Given the description of an element on the screen output the (x, y) to click on. 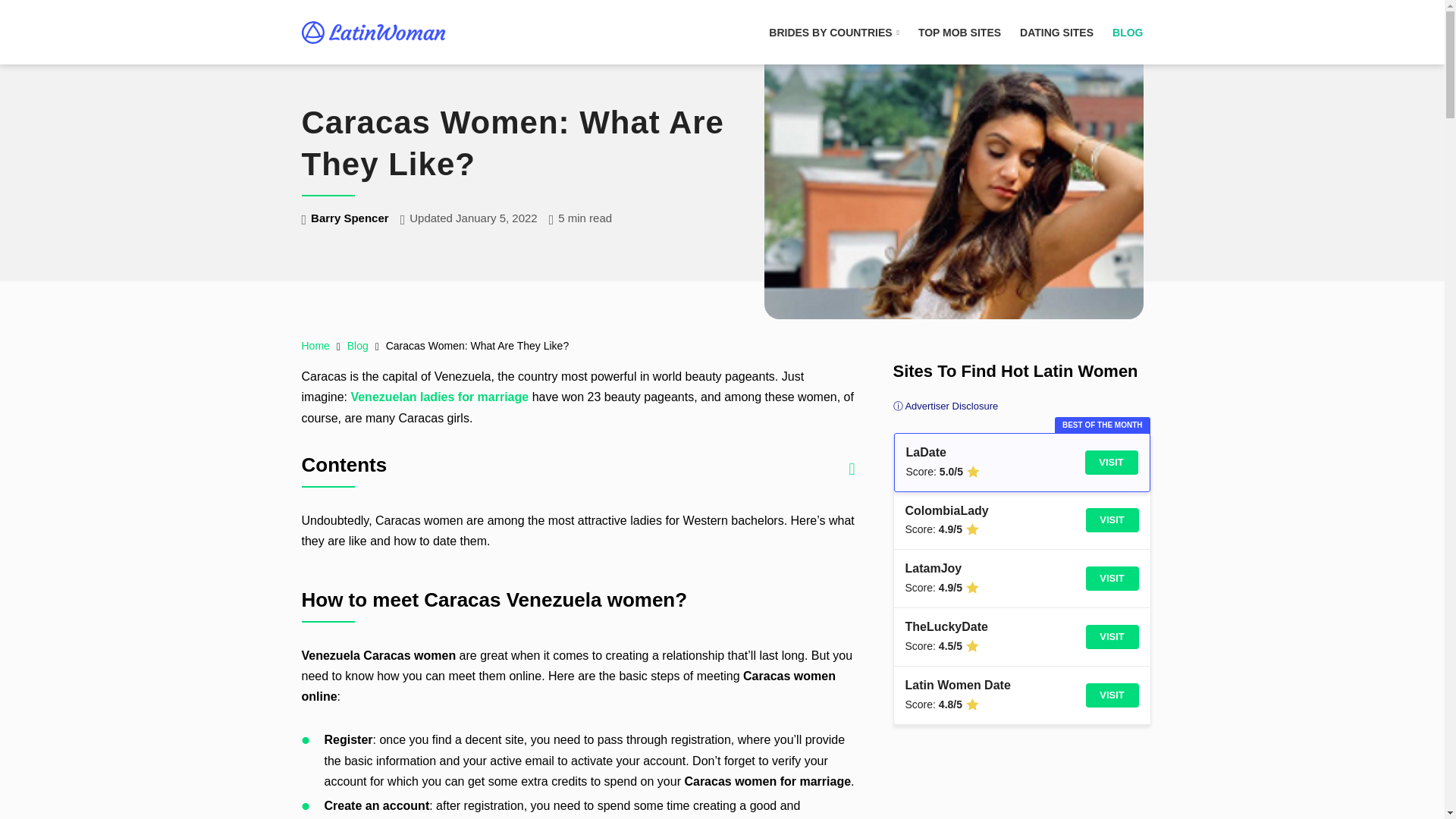
TOP MOB SITES (959, 31)
Barry Spencer (349, 217)
Posts by Barry Spencer (349, 217)
DATING SITES (1056, 31)
Blog (357, 345)
Home (315, 345)
BLOG (1127, 31)
LatinWomenDating (373, 32)
Venezuelan ladies for marriage (439, 396)
